Given the description of an element on the screen output the (x, y) to click on. 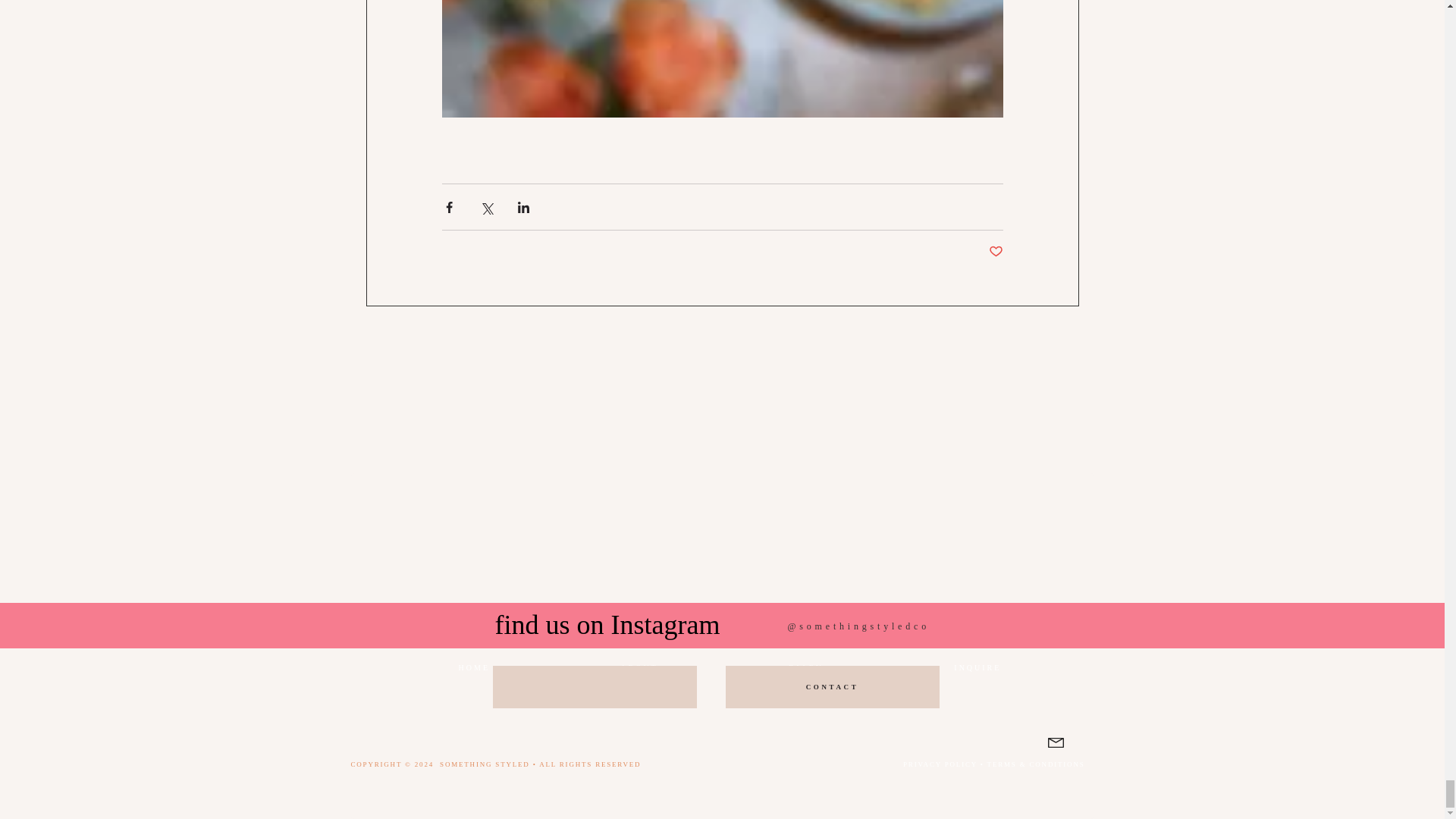
HOME (473, 667)
ABOUT (638, 667)
DIARY (805, 667)
INQUIRE (976, 667)
Post not marked as liked (995, 252)
CONTACT (832, 686)
